Given the description of an element on the screen output the (x, y) to click on. 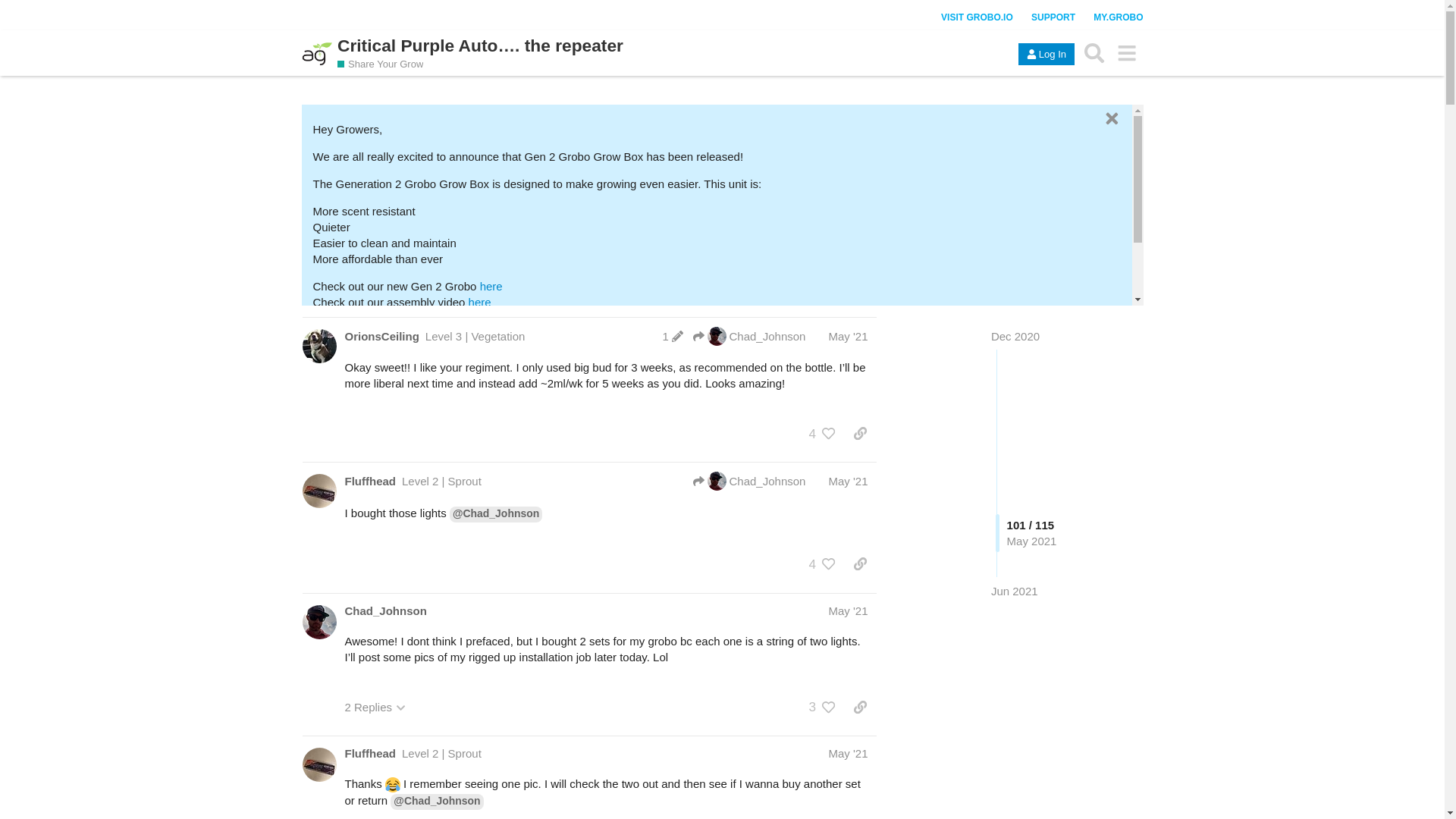
here (491, 286)
Load parent post (749, 480)
Load parent post (749, 335)
post last edited on May 8, 2021 8:36 am (672, 336)
Jun 2021 (1014, 590)
Dismiss this banner. (1110, 118)
VISIT GROBO.IO (976, 17)
May '21 (847, 481)
Dec 2020 (1015, 336)
here (397, 318)
Share Your Grow (380, 64)
here (480, 301)
OrionsCeiling (381, 335)
menu (1126, 52)
Log In (1045, 54)
